Given the description of an element on the screen output the (x, y) to click on. 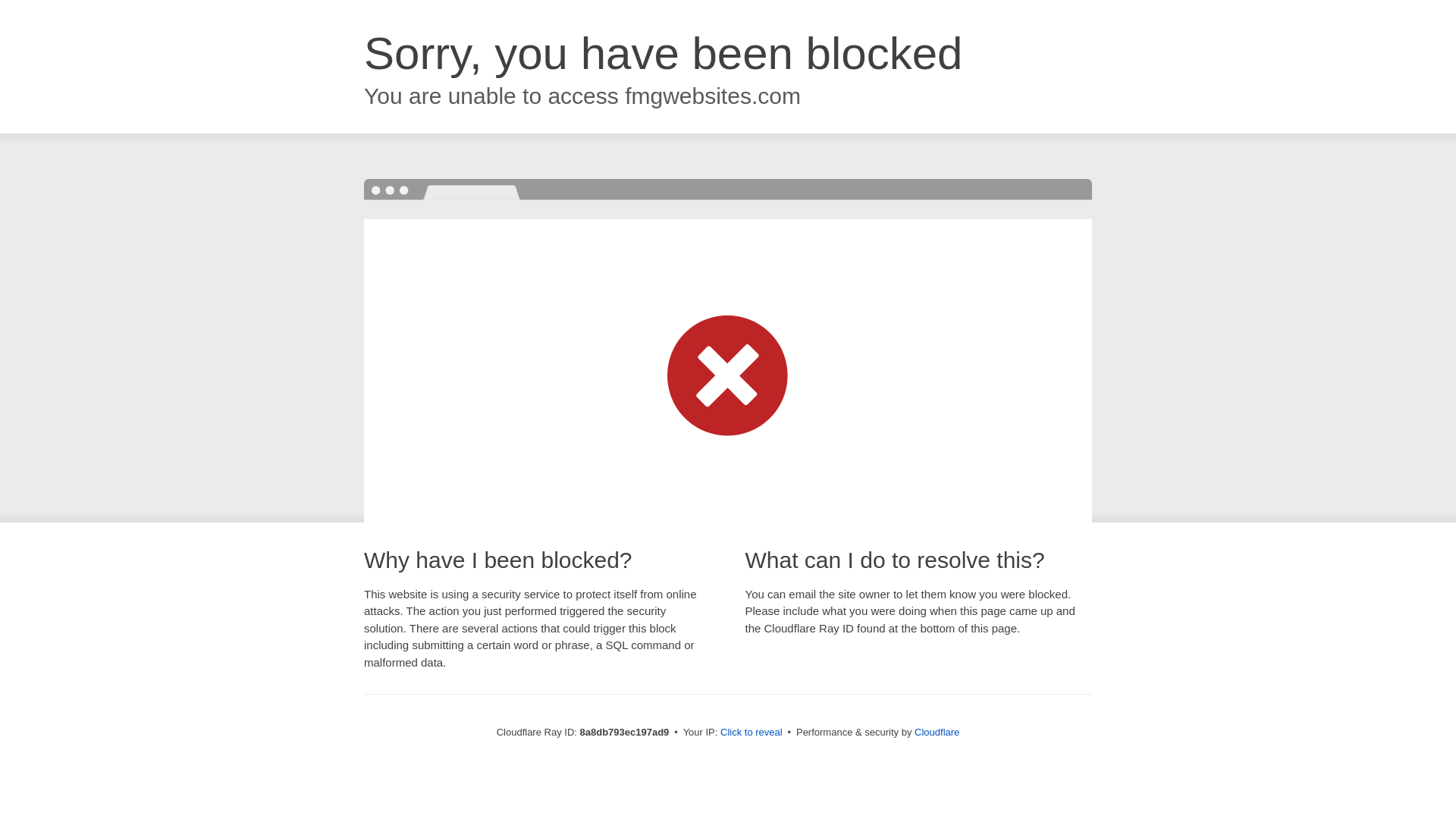
Cloudflare (936, 731)
Click to reveal (751, 732)
